Given the description of an element on the screen output the (x, y) to click on. 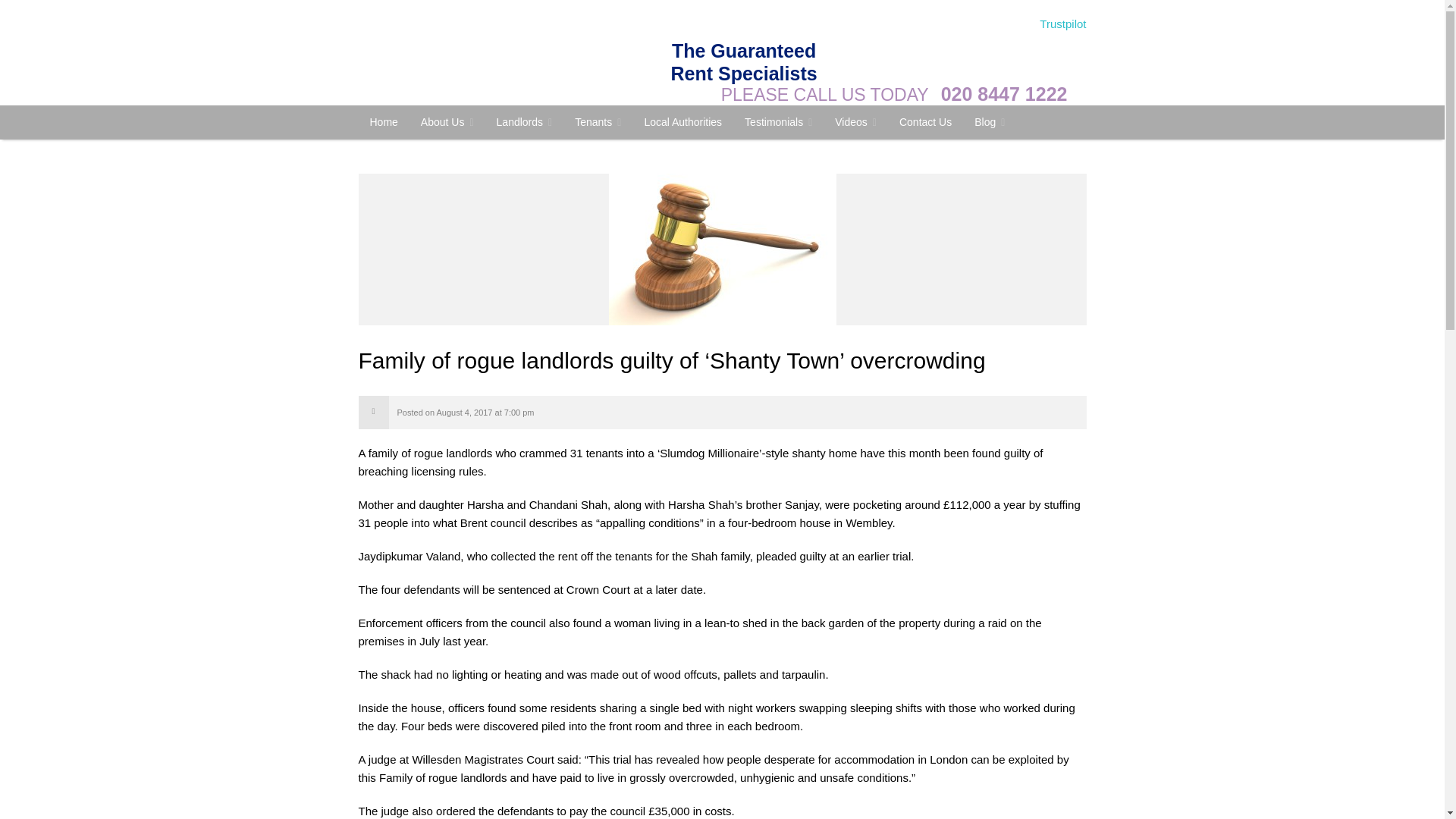
Tenants (597, 122)
020 8447 1222 (1003, 93)
About Us (446, 122)
Testimonials (778, 122)
Central Housing Group (383, 121)
Home (383, 121)
Trustpilot (1062, 23)
Landlords (524, 122)
Local Authorities (682, 121)
About Central Housing Group (446, 122)
